Given the description of an element on the screen output the (x, y) to click on. 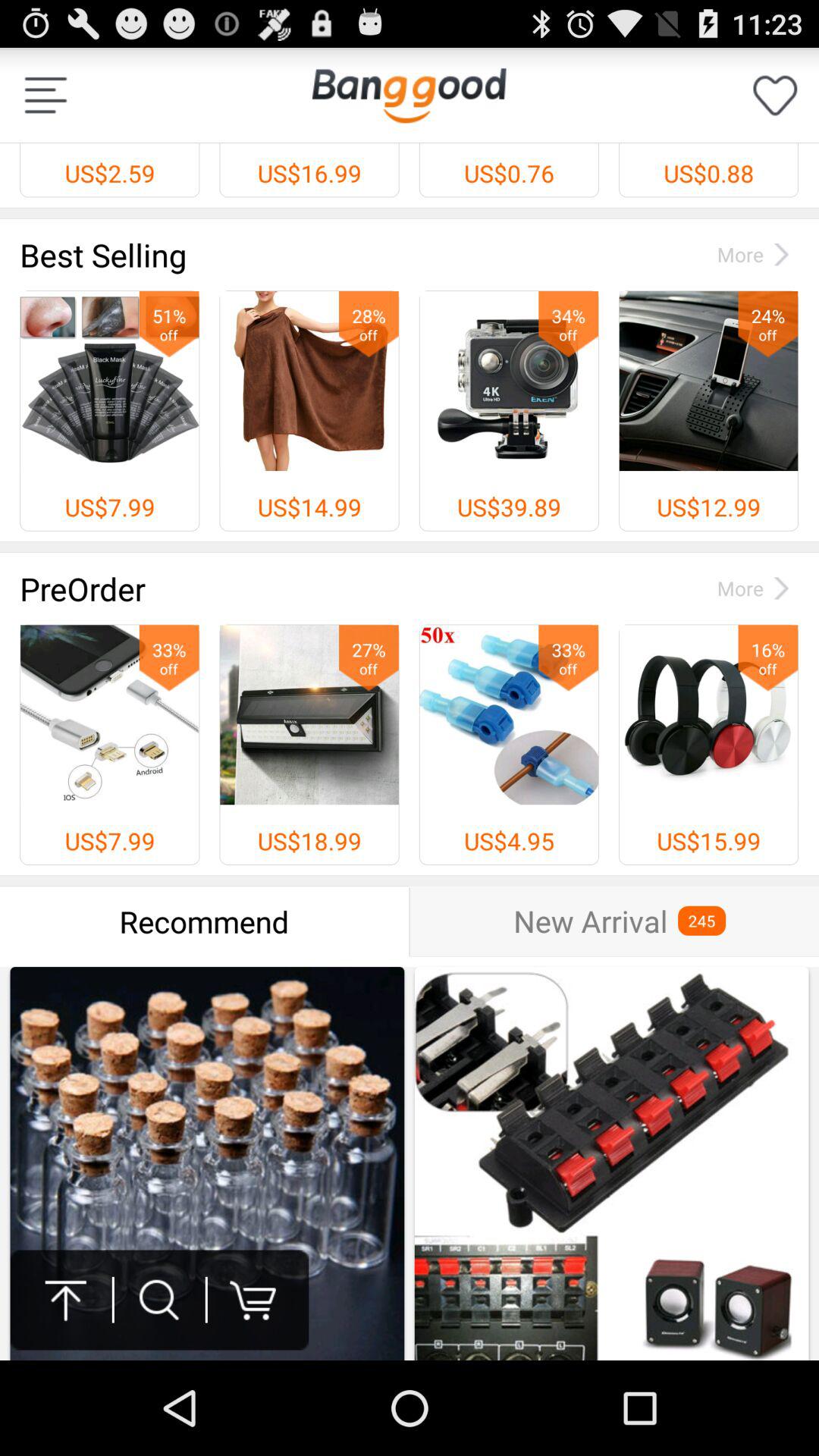
launch the new arrival item (590, 920)
